Given the description of an element on the screen output the (x, y) to click on. 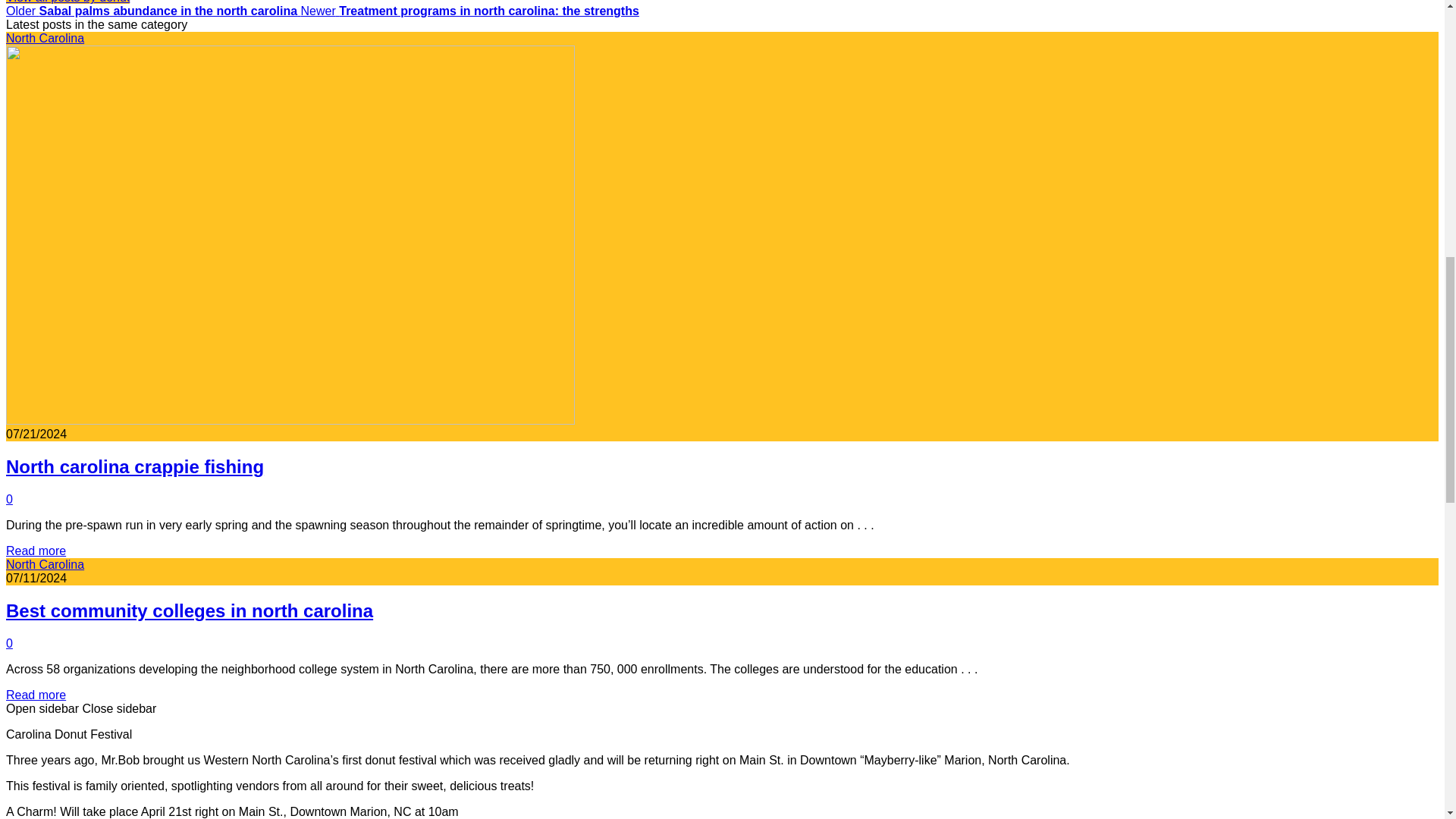
Read more (35, 694)
Best community colleges in north carolina (188, 610)
North carolina crappie fishing (134, 466)
Read more (35, 550)
North Carolina (44, 563)
North Carolina (44, 38)
Older Sabal palms abundance in the north carolina (153, 10)
View all posts by donut (67, 2)
Newer Treatment programs in north carolina: the strengths (470, 10)
